Given the description of an element on the screen output the (x, y) to click on. 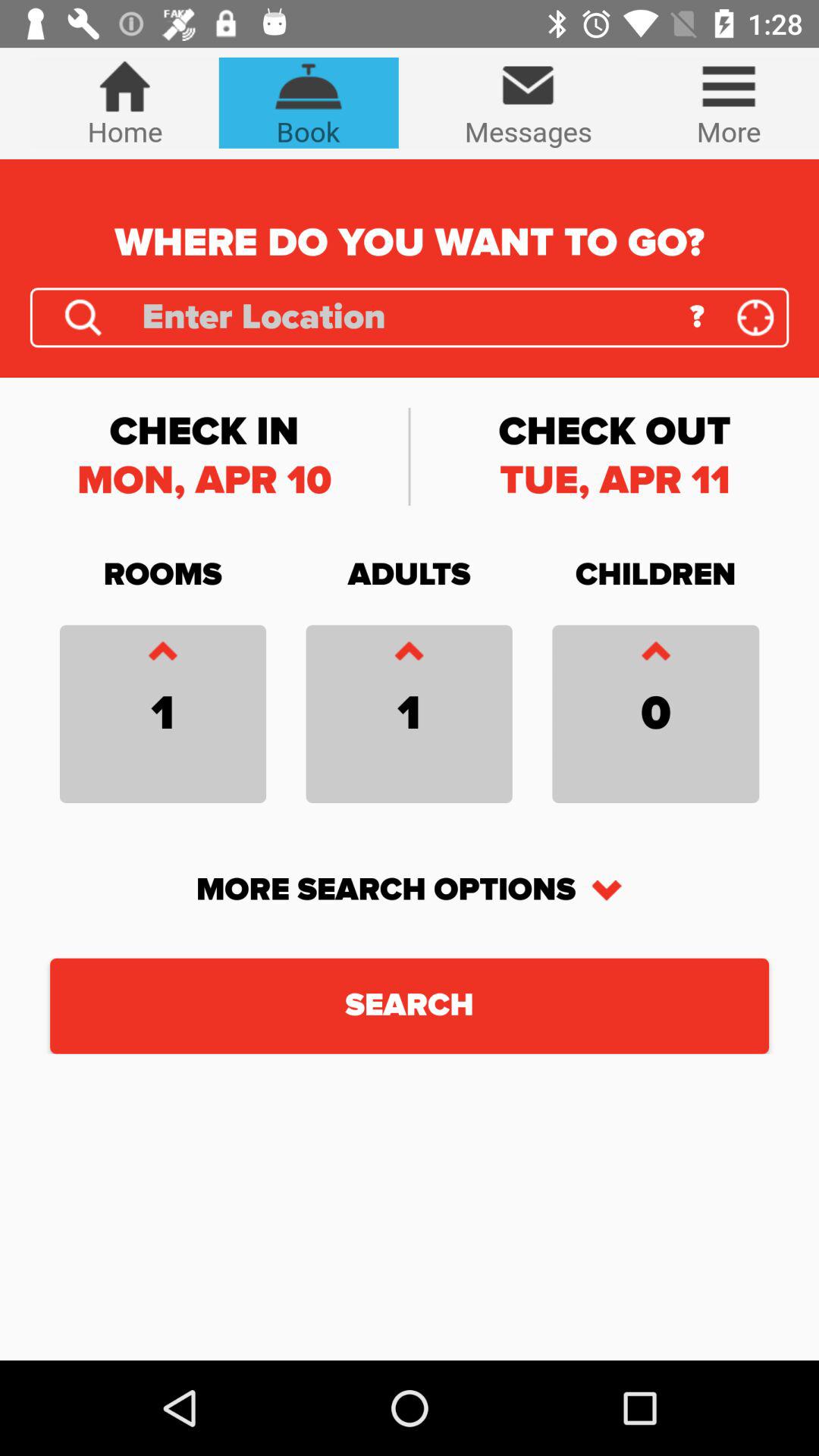
flip until home icon (124, 102)
